Given the description of an element on the screen output the (x, y) to click on. 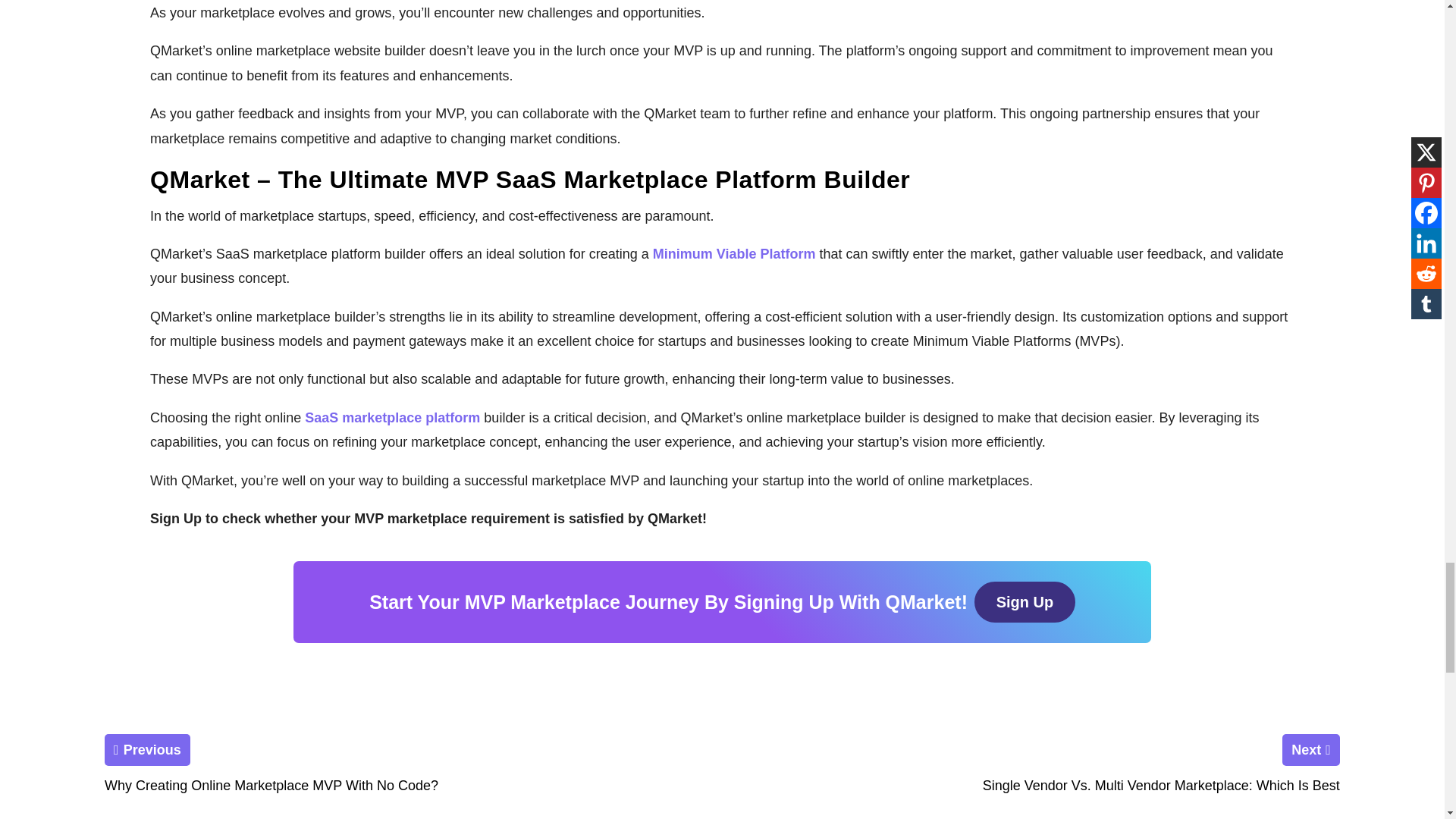
Minimum Viable Platform (733, 253)
SaaS marketplace platform (392, 417)
Sign Up (1024, 601)
